Given the description of an element on the screen output the (x, y) to click on. 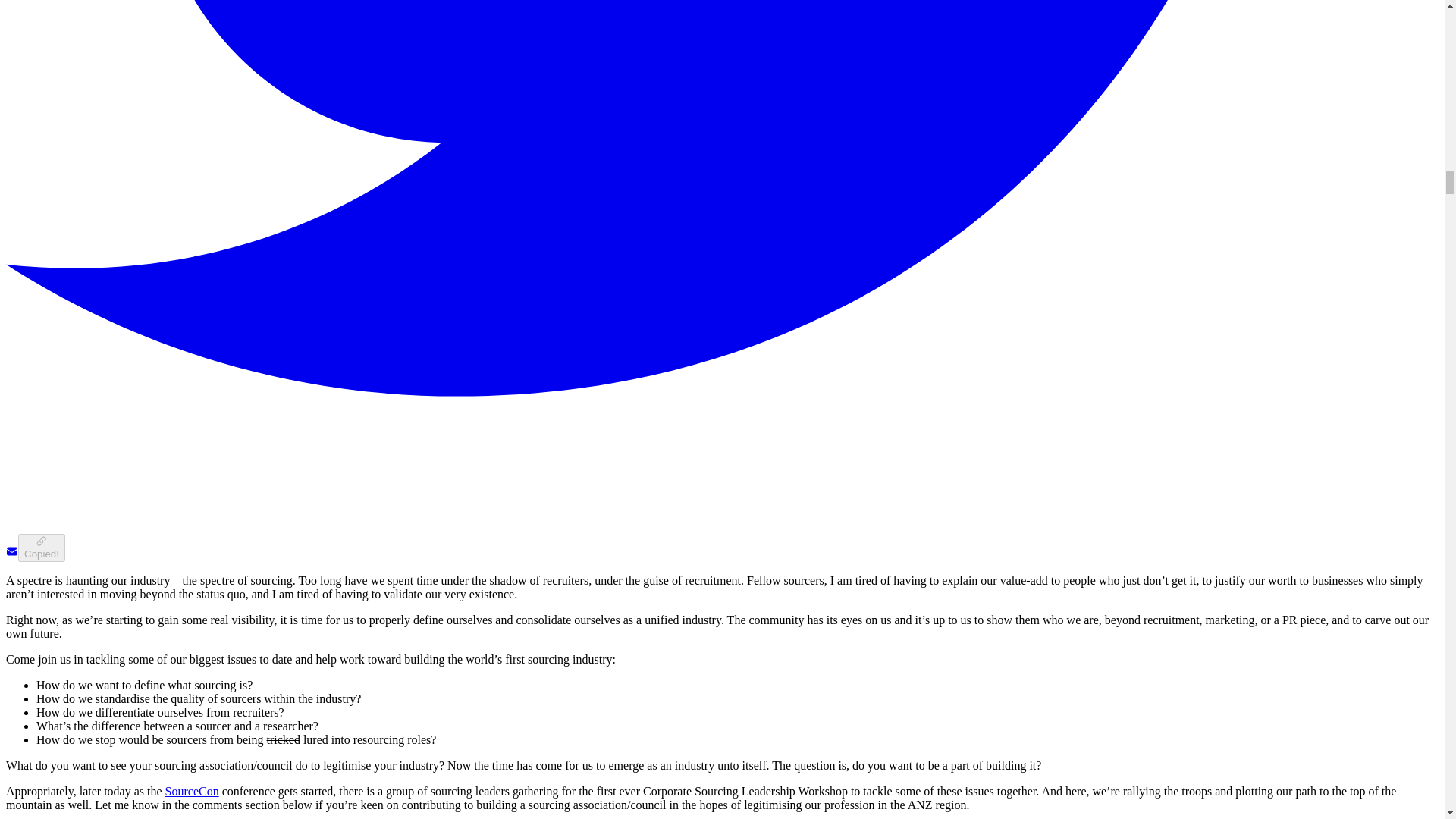
Copied! (41, 547)
SourceCon (192, 790)
